Given the description of an element on the screen output the (x, y) to click on. 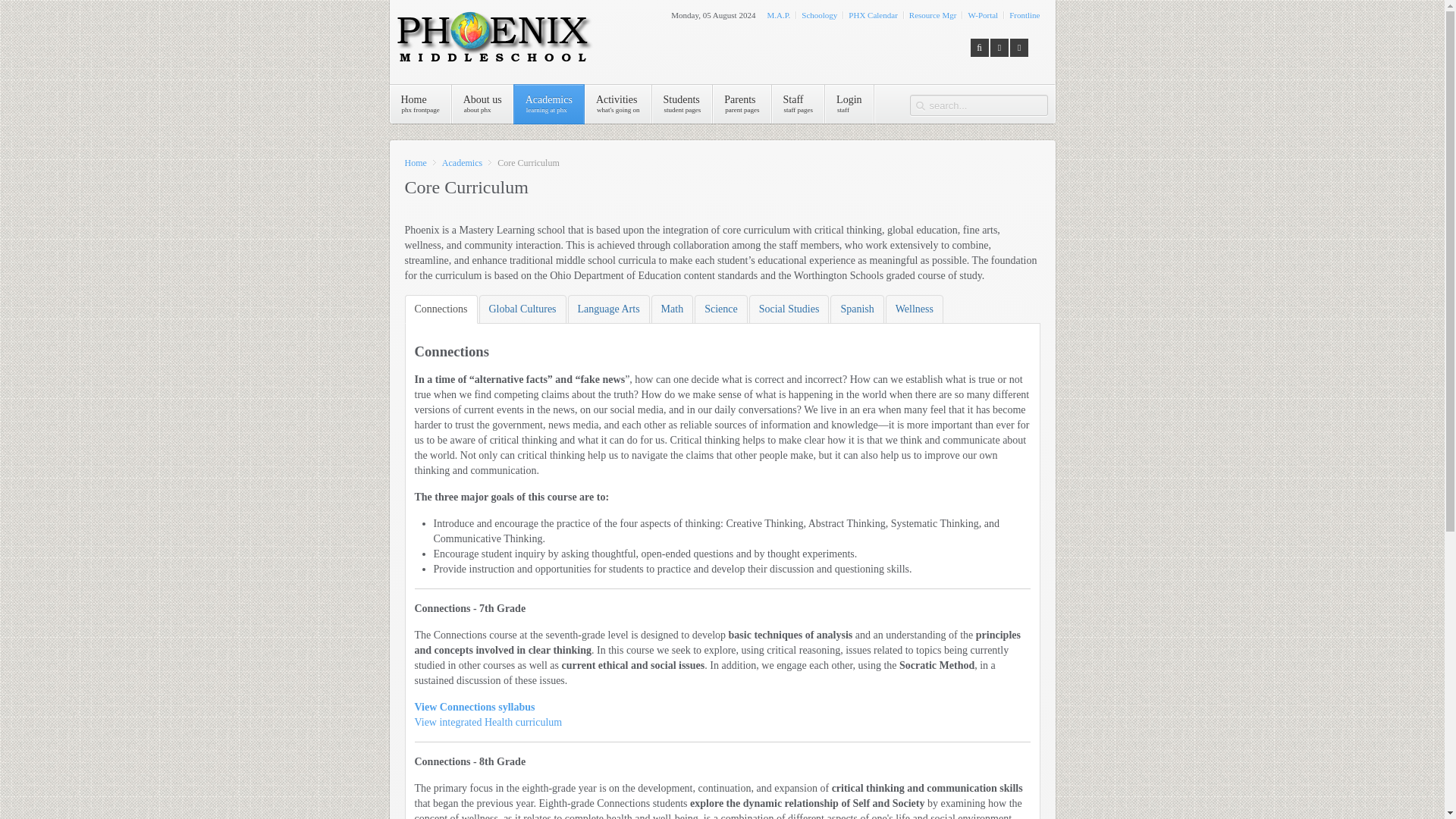
Frontline (1024, 14)
Schoology (819, 14)
M.A.P. (682, 104)
W-Portal (420, 104)
Resource Mgr (482, 104)
PHX Calendar (778, 14)
